Given the description of an element on the screen output the (x, y) to click on. 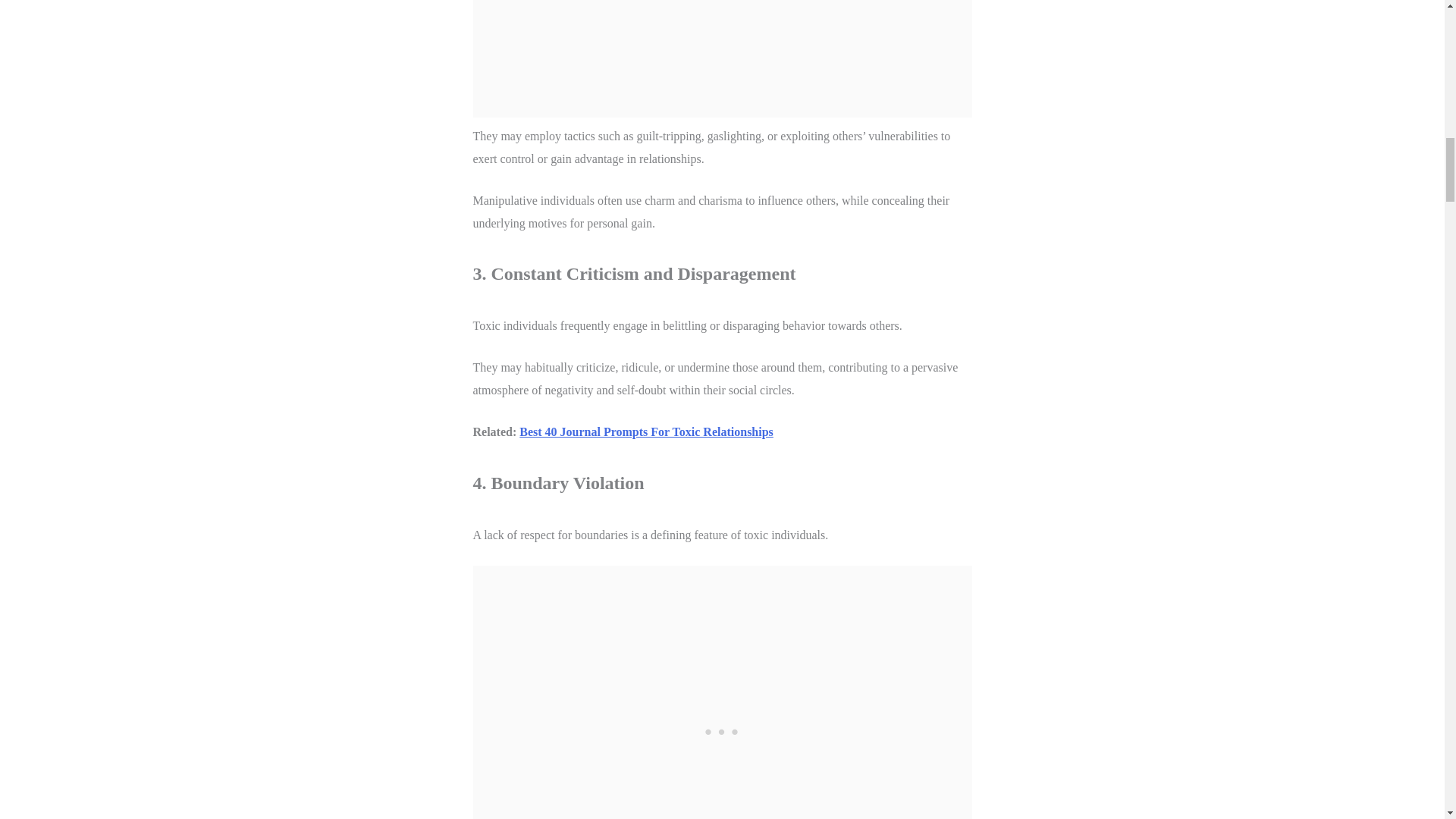
Best 40 Journal Prompts For Toxic Relationships (646, 431)
